Given the description of an element on the screen output the (x, y) to click on. 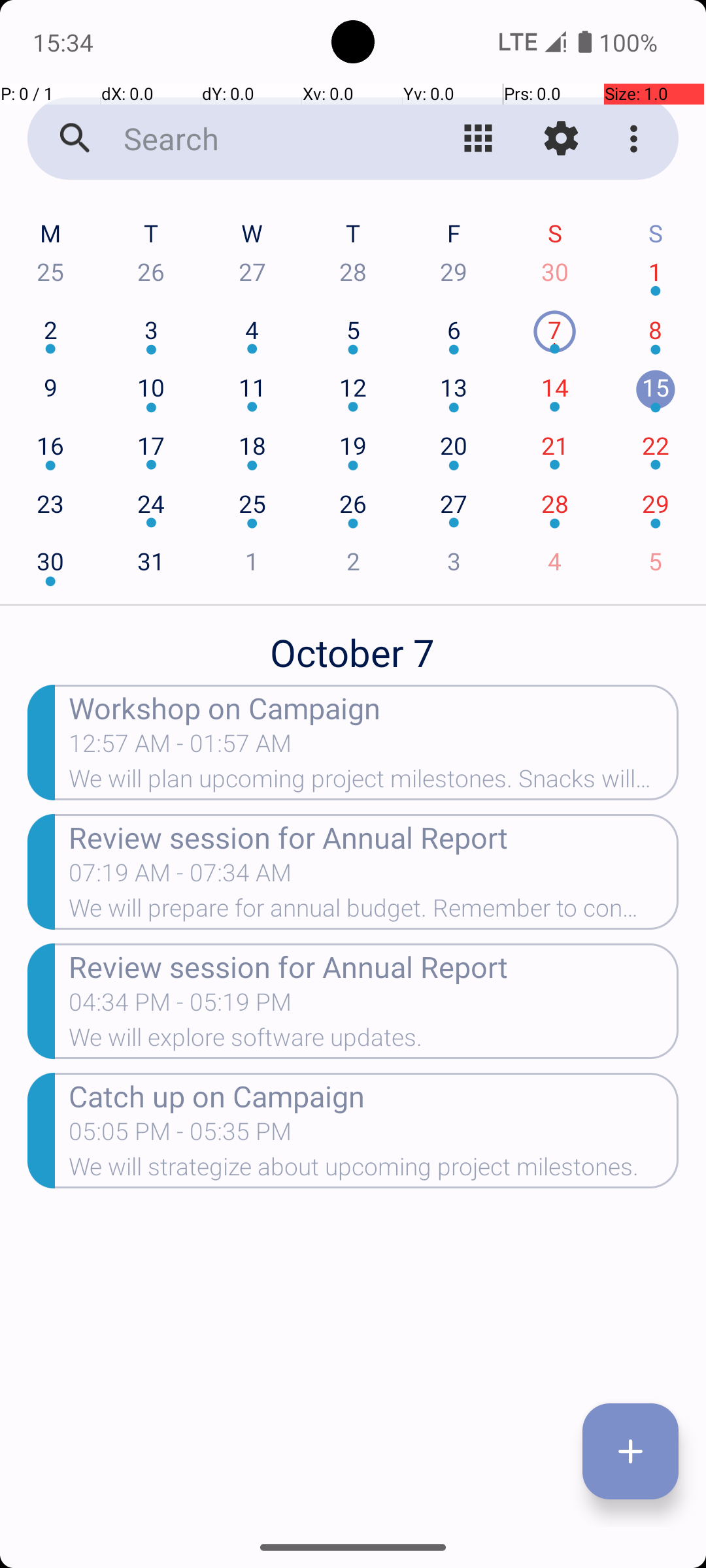
October 7 Element type: android.widget.TextView (352, 644)
12:57 AM - 01:57 AM Element type: android.widget.TextView (179, 747)
We will plan upcoming project milestones. Snacks will be provided. Element type: android.widget.TextView (373, 782)
07:19 AM - 07:34 AM Element type: android.widget.TextView (179, 876)
We will prepare for annual budget. Remember to confirm attendance. Element type: android.widget.TextView (373, 911)
04:34 PM - 05:19 PM Element type: android.widget.TextView (179, 1005)
We will explore software updates. Element type: android.widget.TextView (373, 1041)
05:05 PM - 05:35 PM Element type: android.widget.TextView (179, 1135)
We will strategize about upcoming project milestones. Element type: android.widget.TextView (373, 1170)
